Given the description of an element on the screen output the (x, y) to click on. 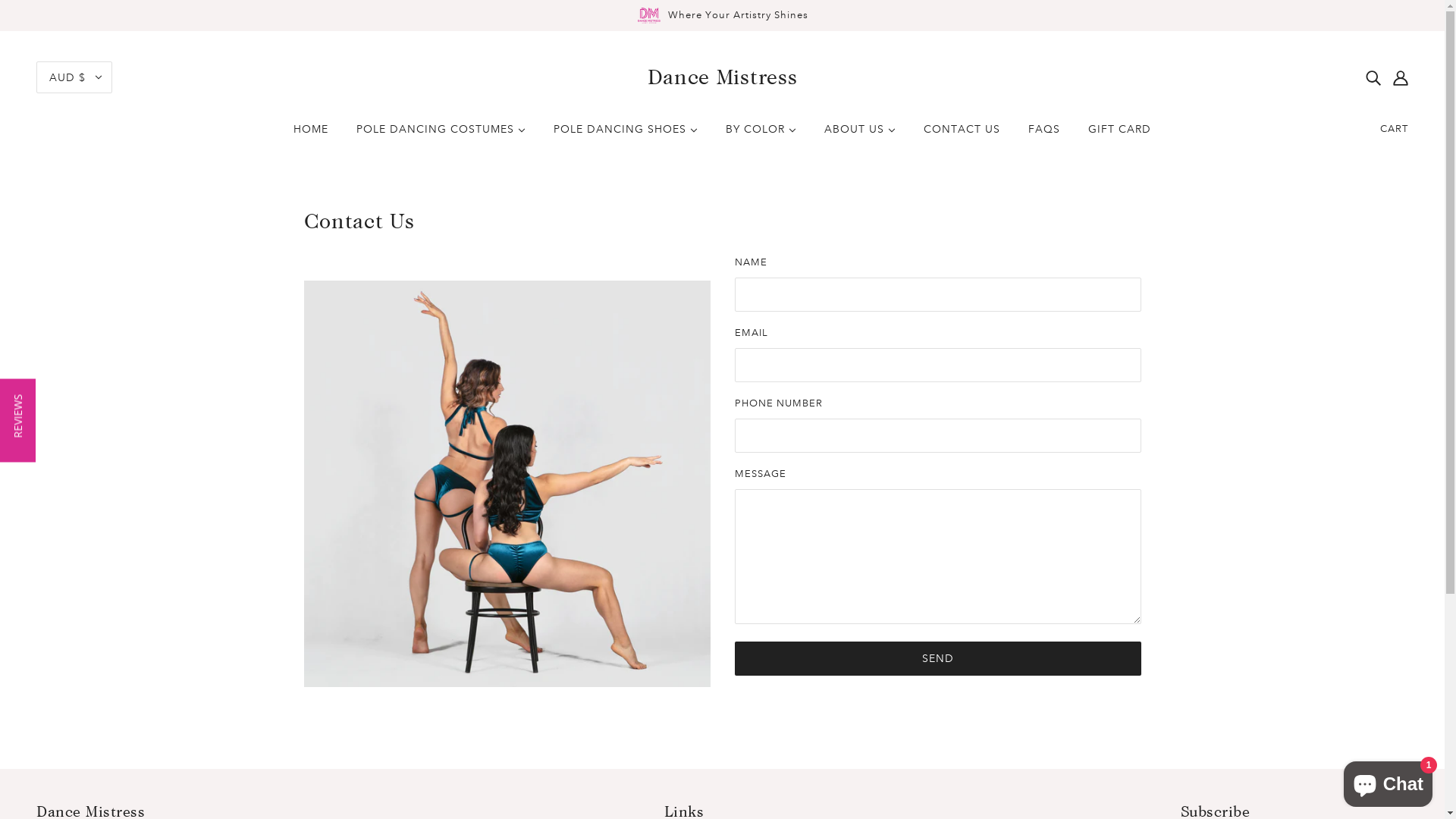
CONTACT US Element type: text (961, 134)
FAQS Element type: text (1044, 134)
POLE DANCING COSTUMES Element type: text (440, 134)
POLE DANCING SHOES Element type: text (625, 134)
BY COLOR Element type: text (760, 134)
ABOUT US Element type: text (859, 134)
Where Your Artistry Shines Element type: text (722, 15)
GIFT CARD Element type: text (1119, 134)
HOME Element type: text (310, 134)
CART Element type: text (1394, 128)
Shopify online store chat Element type: hover (1388, 780)
SEND Element type: text (937, 658)
Dance Mistress Element type: text (722, 76)
